Given the description of an element on the screen output the (x, y) to click on. 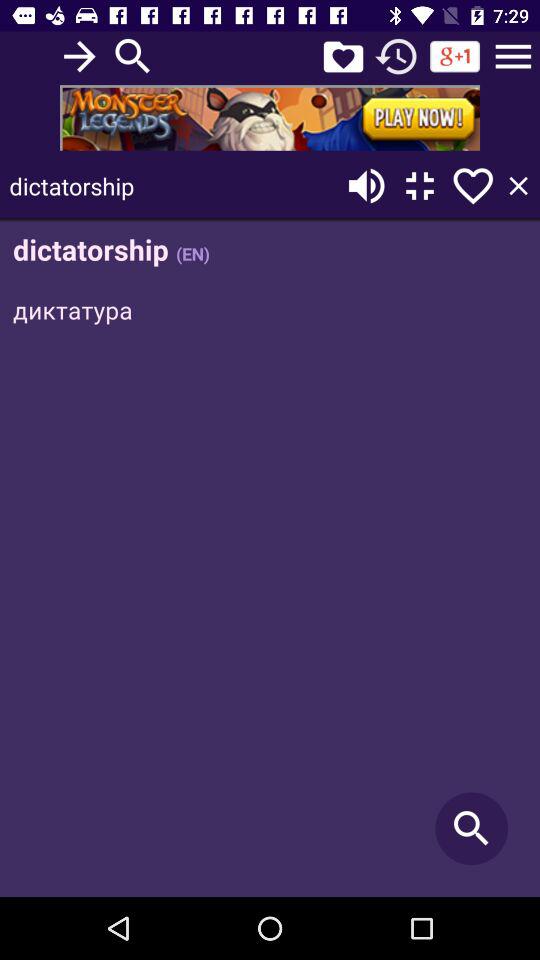
add this element to favorite (473, 185)
